Given the description of an element on the screen output the (x, y) to click on. 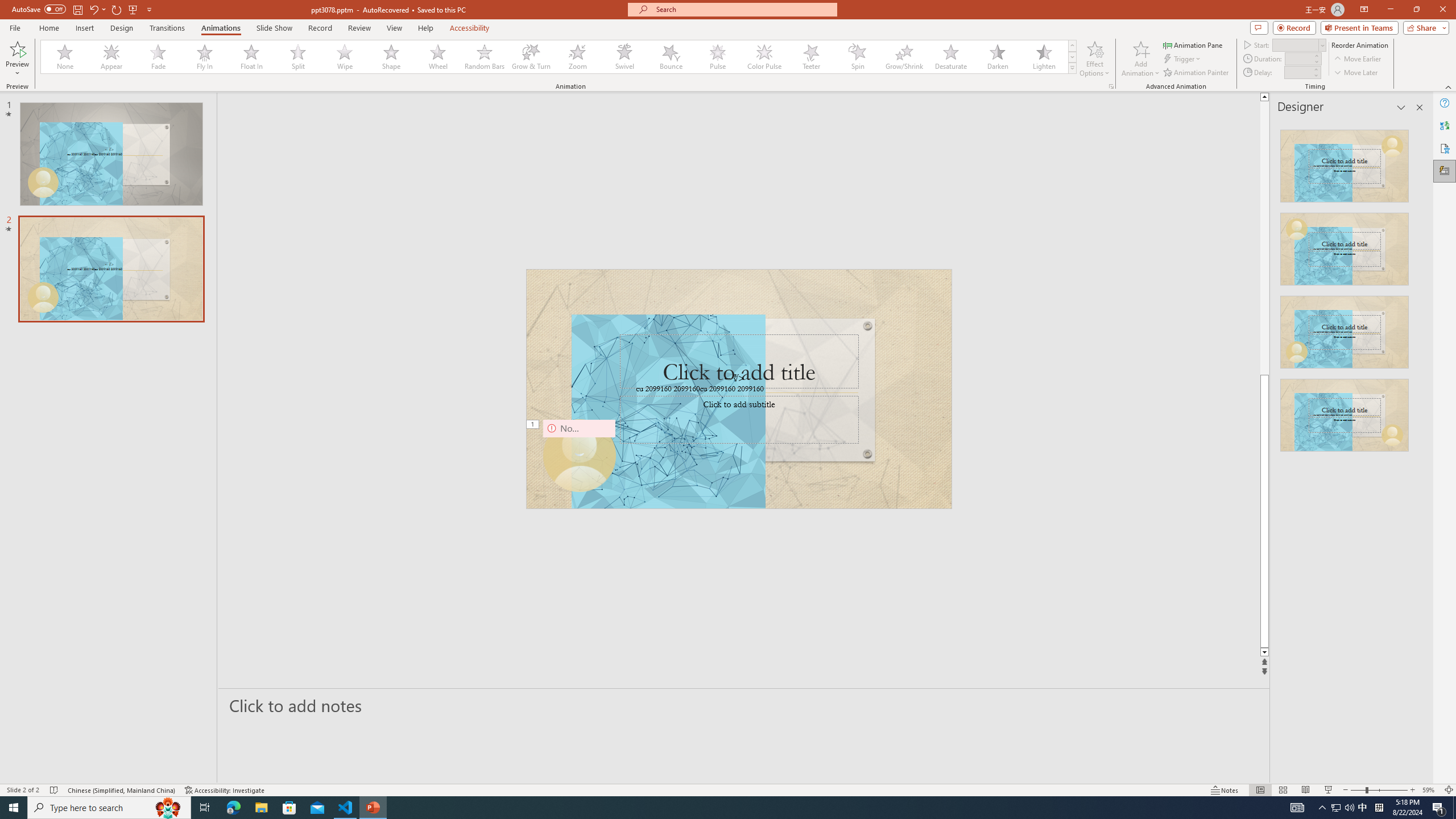
Slide Notes (743, 705)
Design Idea (1344, 411)
Effect Options (1094, 58)
More Options... (1110, 85)
TextBox 7 (734, 378)
More (1315, 69)
